Given the description of an element on the screen output the (x, y) to click on. 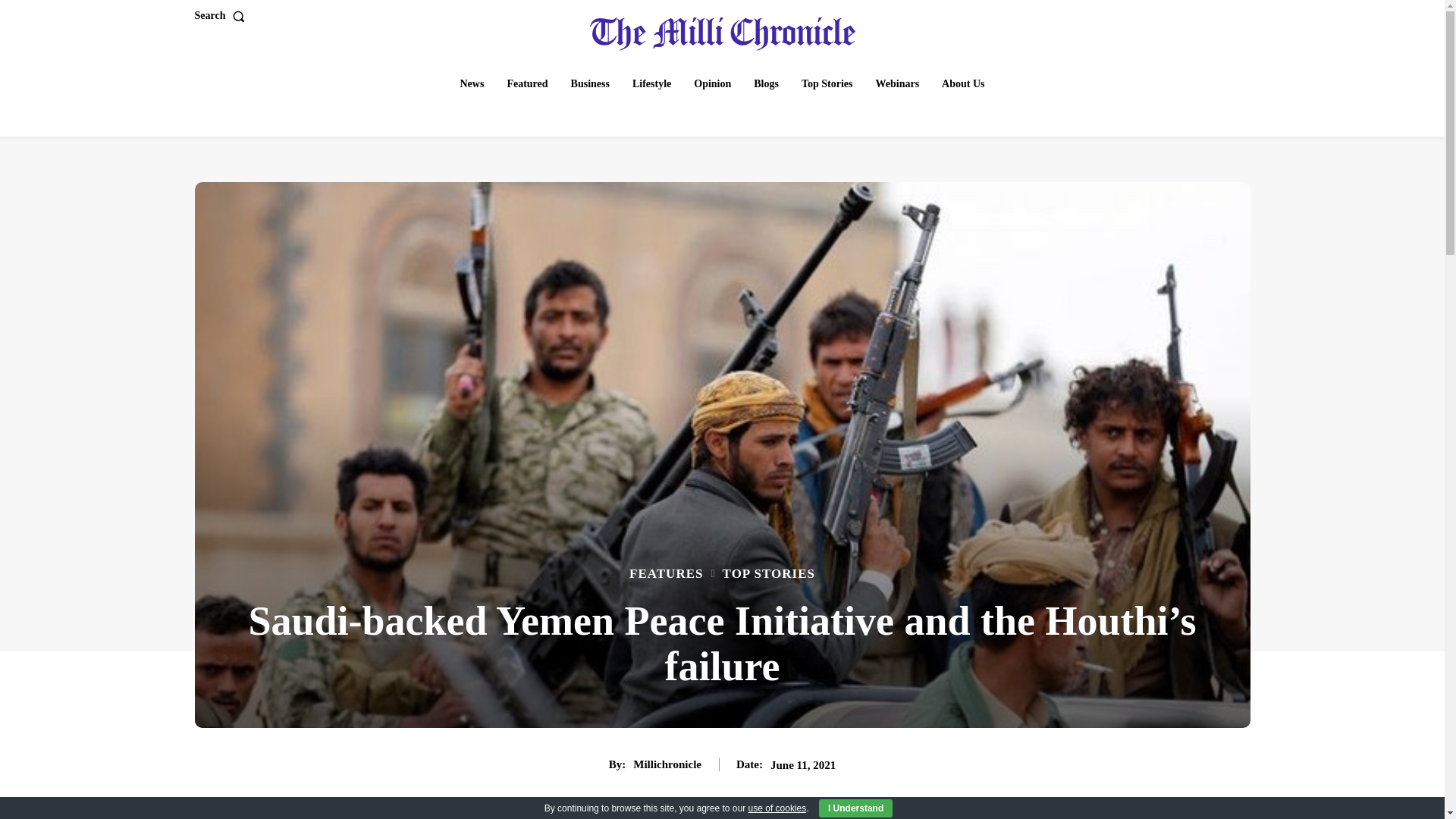
Business (590, 83)
Lifestyle (651, 83)
News (471, 83)
Featured (526, 83)
Search (221, 15)
